Given the description of an element on the screen output the (x, y) to click on. 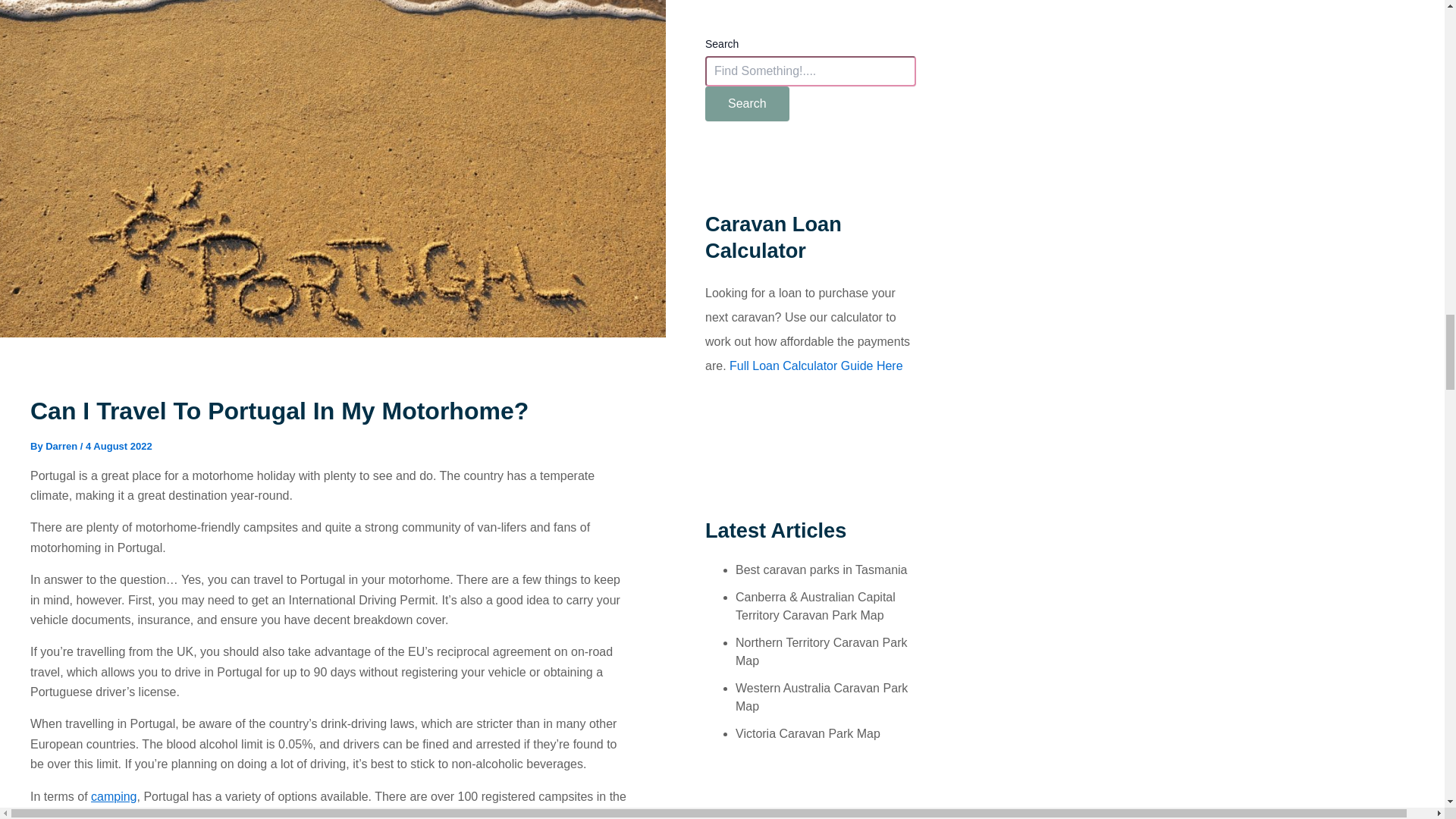
Darren (62, 446)
View all posts by Darren (62, 446)
